Given the description of an element on the screen output the (x, y) to click on. 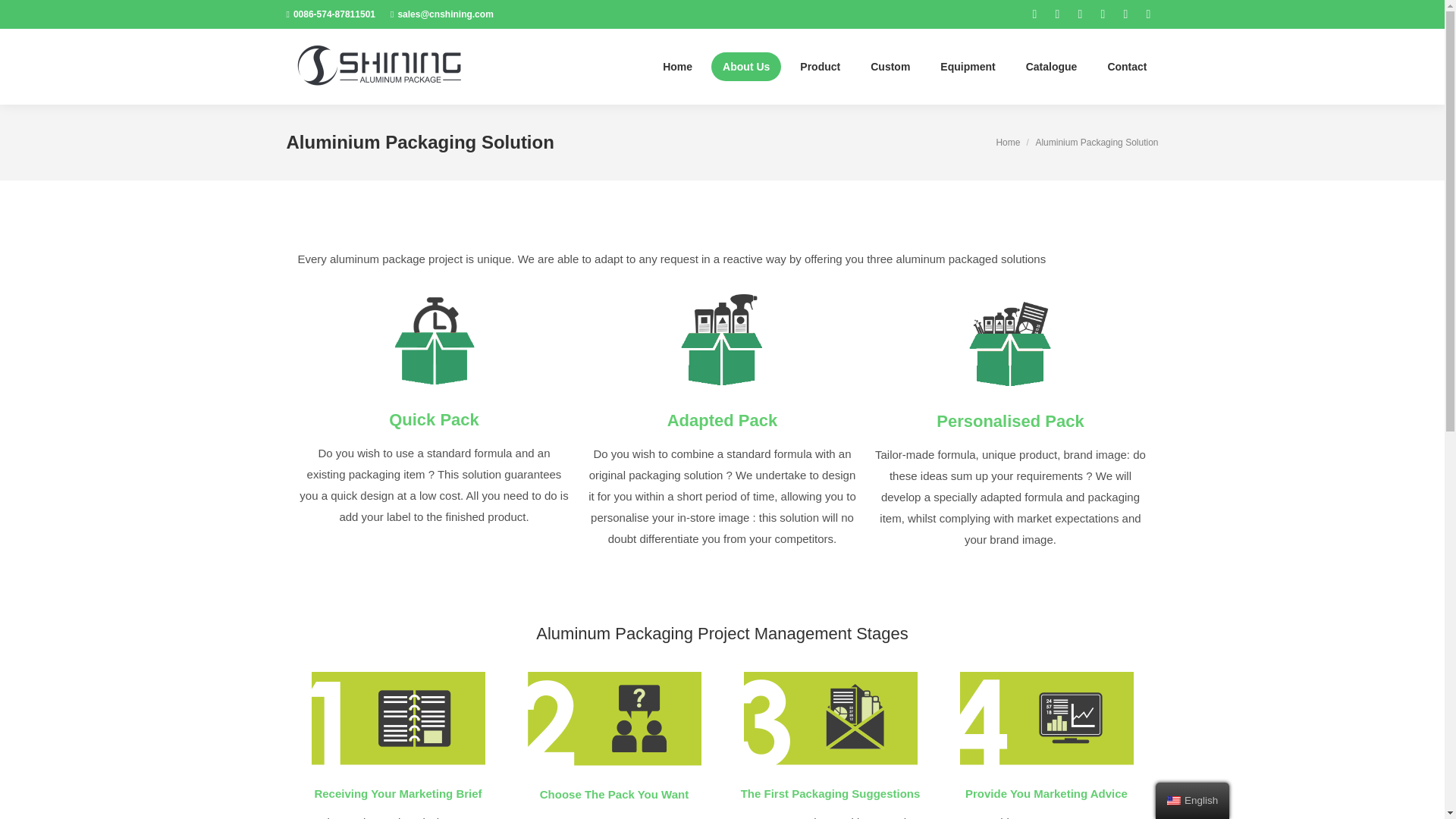
Facebook page opens in new window (1035, 14)
About Us (745, 66)
Pinterest page opens in new window (1080, 14)
YouTube page opens in new window (1125, 14)
Home (676, 66)
Instagram page opens in new window (1103, 14)
Twitter page opens in new window (1057, 14)
Linkedin page opens in new window (1148, 14)
Product (820, 66)
